Given the description of an element on the screen output the (x, y) to click on. 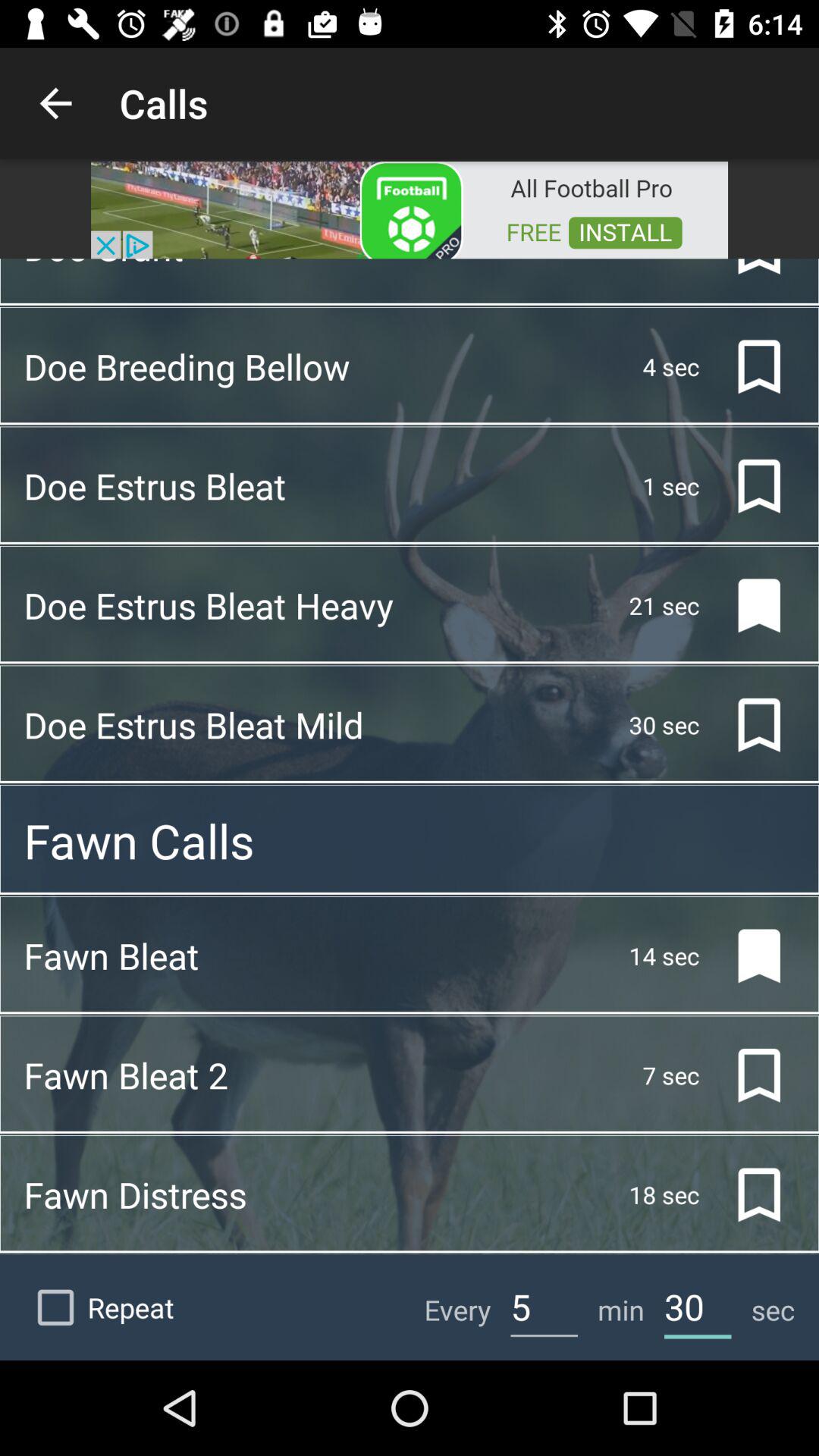
open app (409, 208)
